Given the description of an element on the screen output the (x, y) to click on. 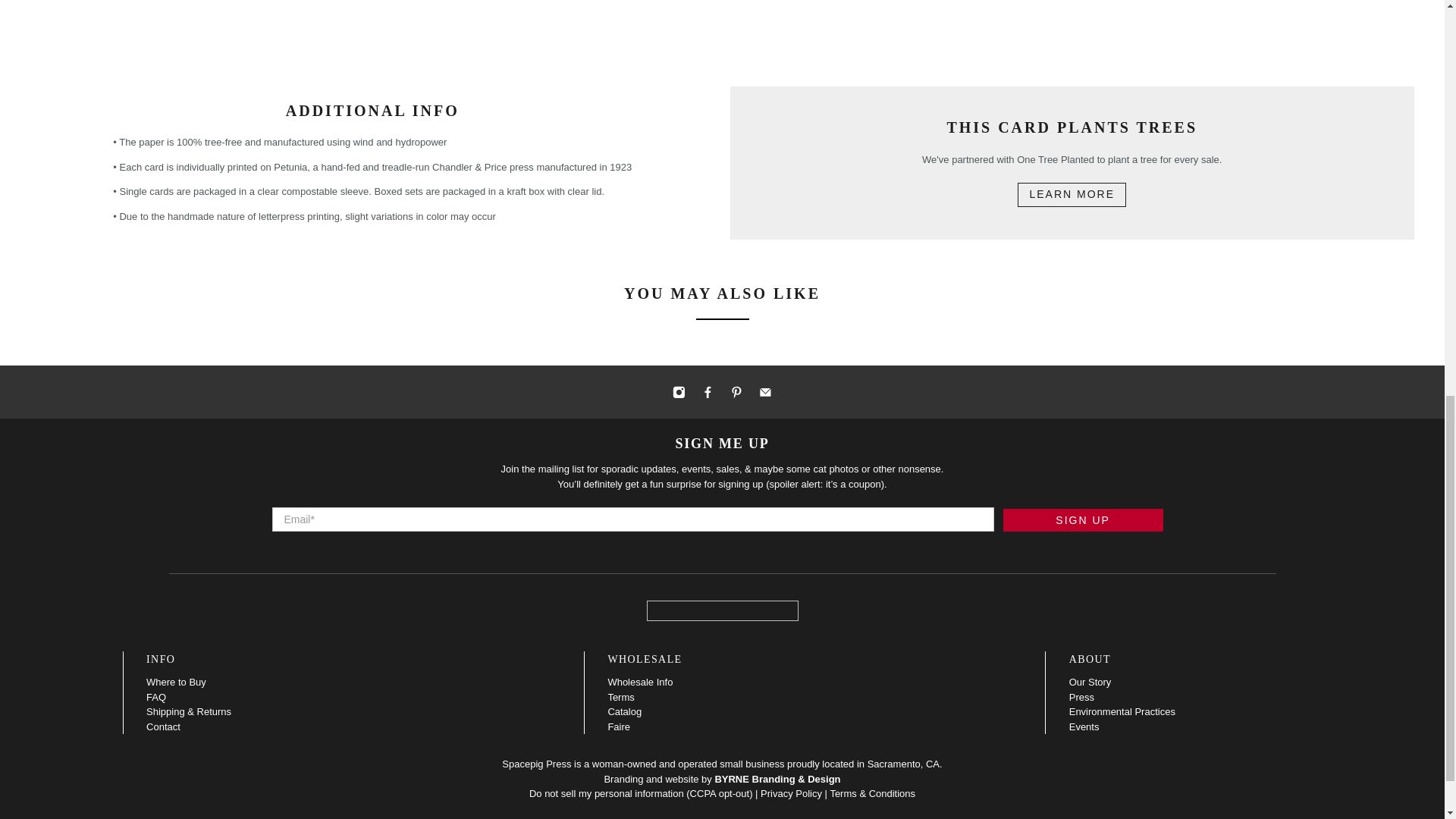
Spacepig Press (721, 610)
Terms of Service (872, 793)
Do not sell my personal information (606, 793)
Privacy Policy (791, 793)
